Given the description of an element on the screen output the (x, y) to click on. 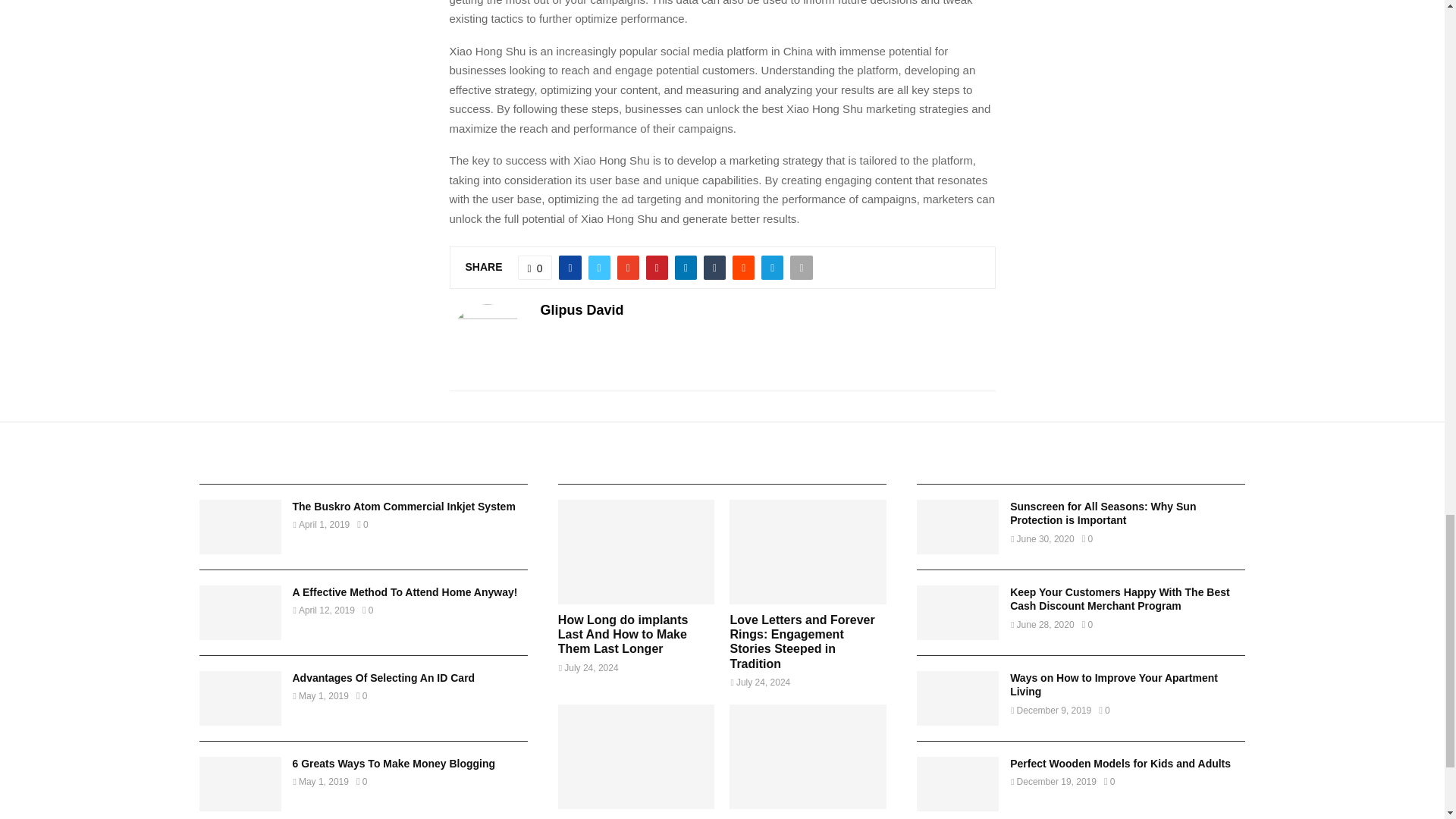
Like (535, 267)
Posts by Glipus David (581, 310)
0 (535, 267)
